Given the description of an element on the screen output the (x, y) to click on. 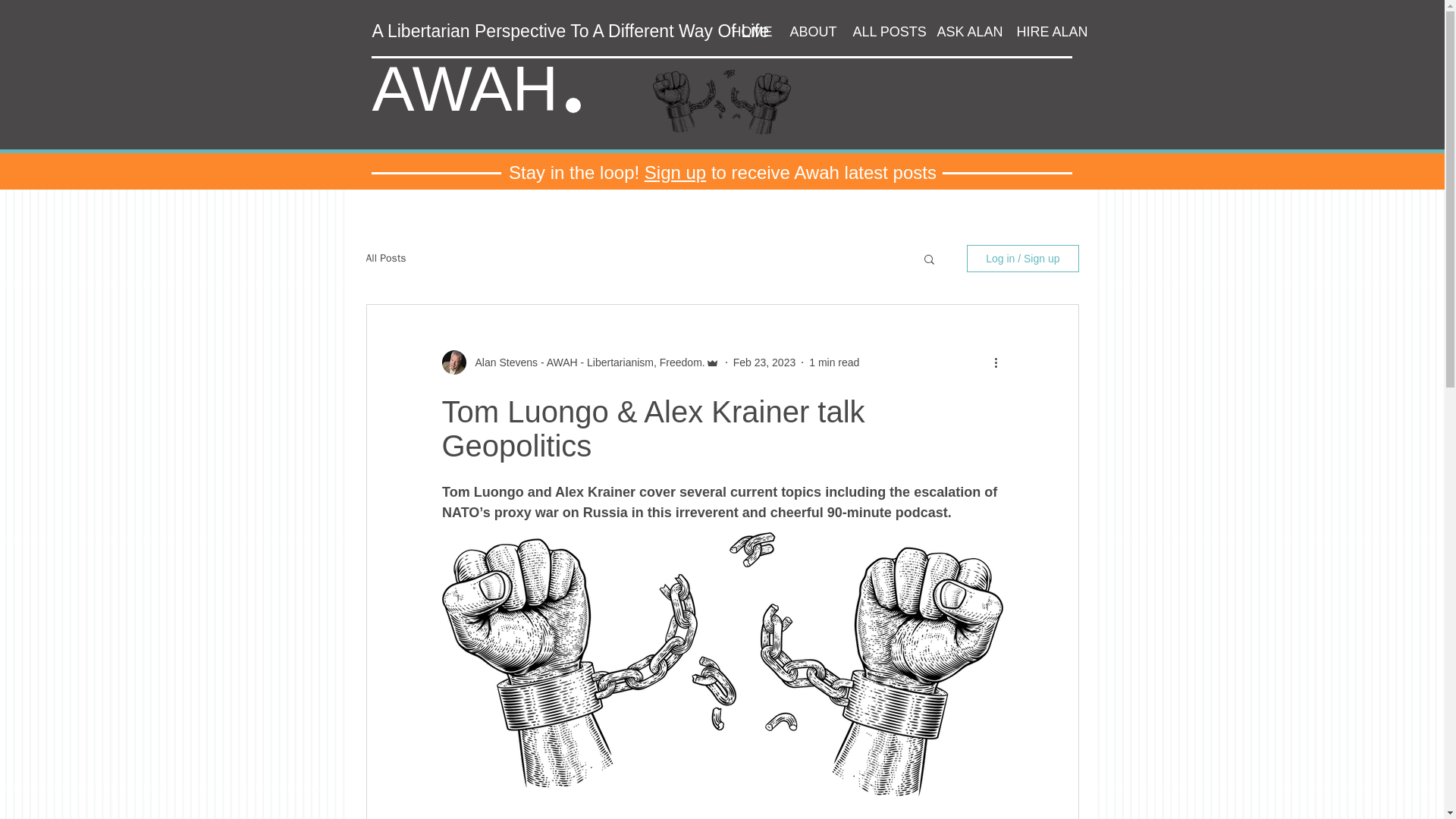
Sign up (675, 172)
HIRE ALAN (1046, 31)
1 min read (834, 362)
AWAH (464, 88)
ASK ALAN (964, 31)
ALL POSTS (883, 31)
Feb 23, 2023 (764, 362)
ABOUT (809, 31)
All Posts (385, 258)
HOME (749, 31)
Alan Stevens - AWAH - Libertarianism, Freedom. (584, 362)
